Given the description of an element on the screen output the (x, y) to click on. 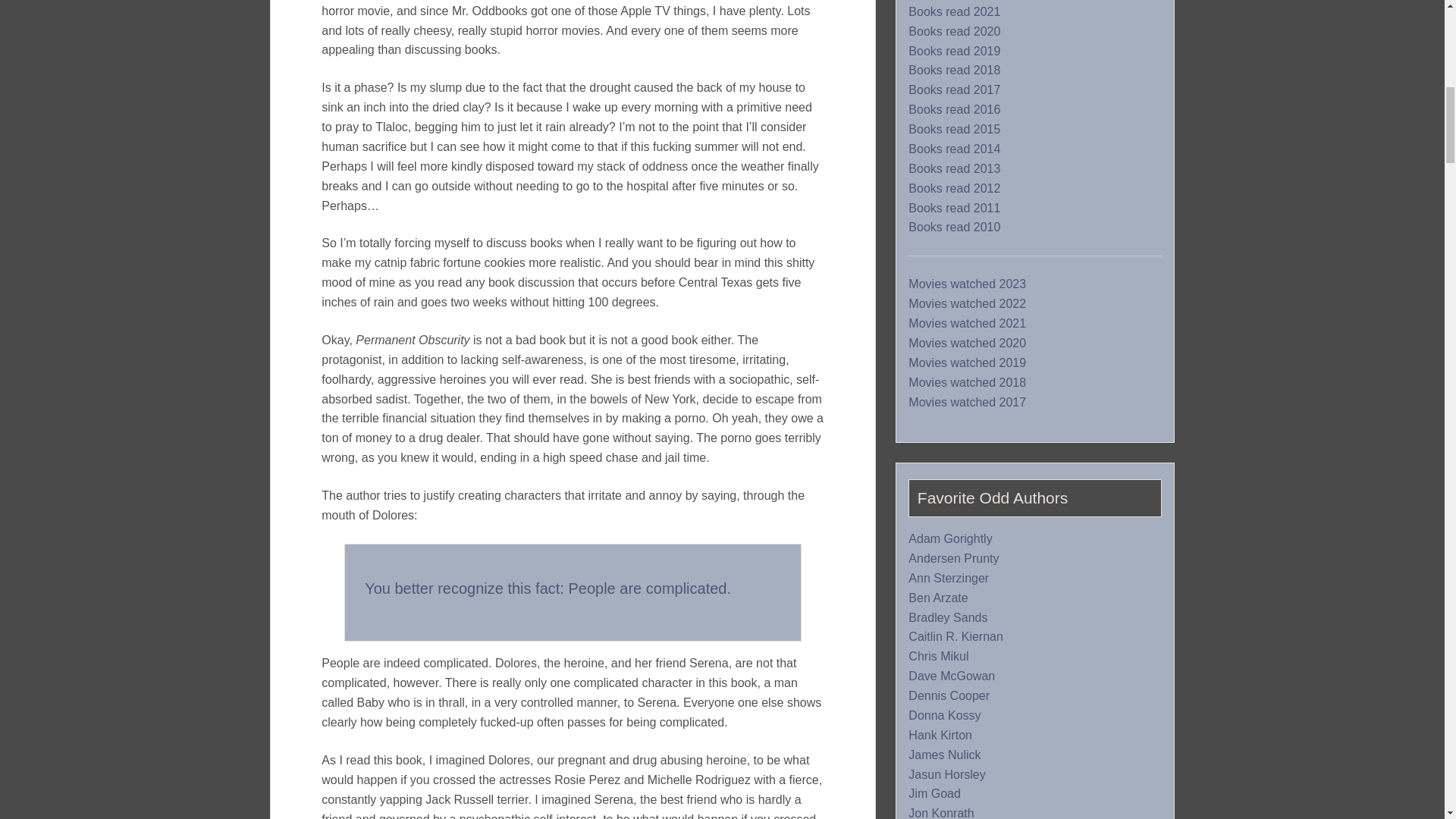
Books read 2021 (954, 11)
Books read 2018 (954, 69)
Books read 2020 (954, 31)
Books read 2019 (954, 51)
Books read 2017 (954, 90)
Books read 2016 (954, 110)
